Given the description of an element on the screen output the (x, y) to click on. 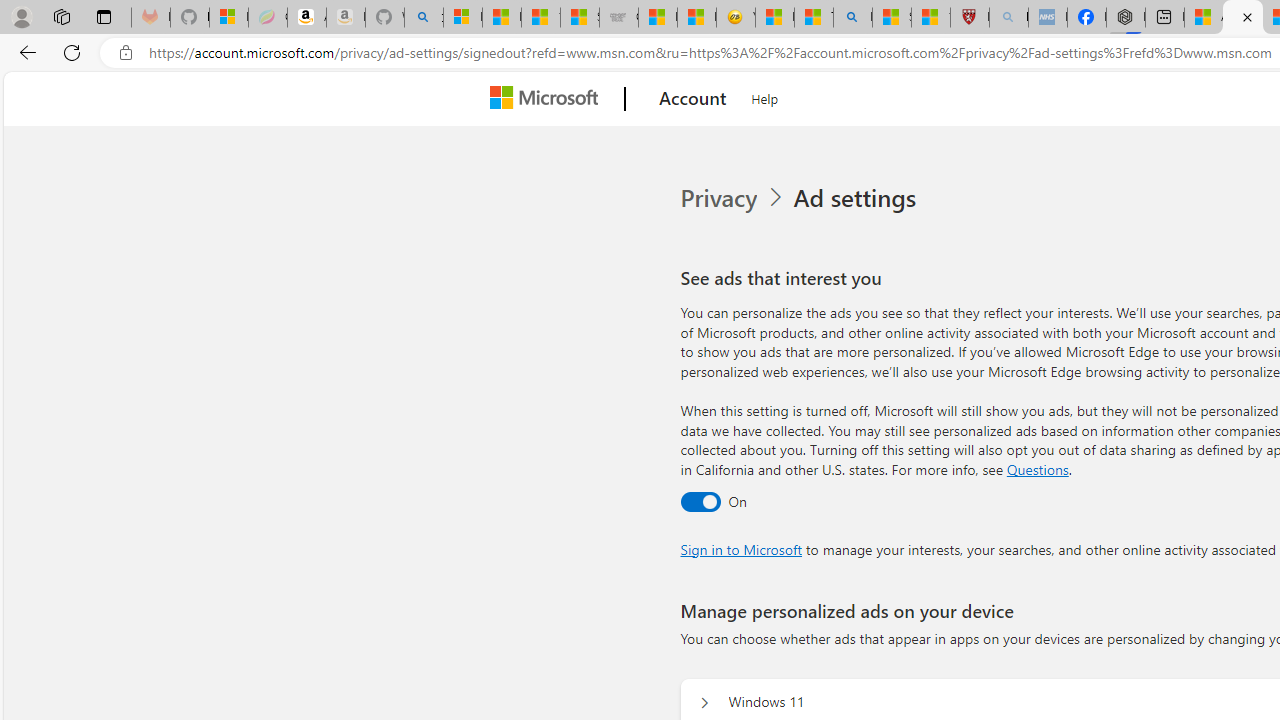
Help (765, 96)
Science - MSN (892, 17)
Sign in to Microsoft (740, 548)
Recipes - MSN (774, 17)
Go to Questions section (1037, 468)
